Given the description of an element on the screen output the (x, y) to click on. 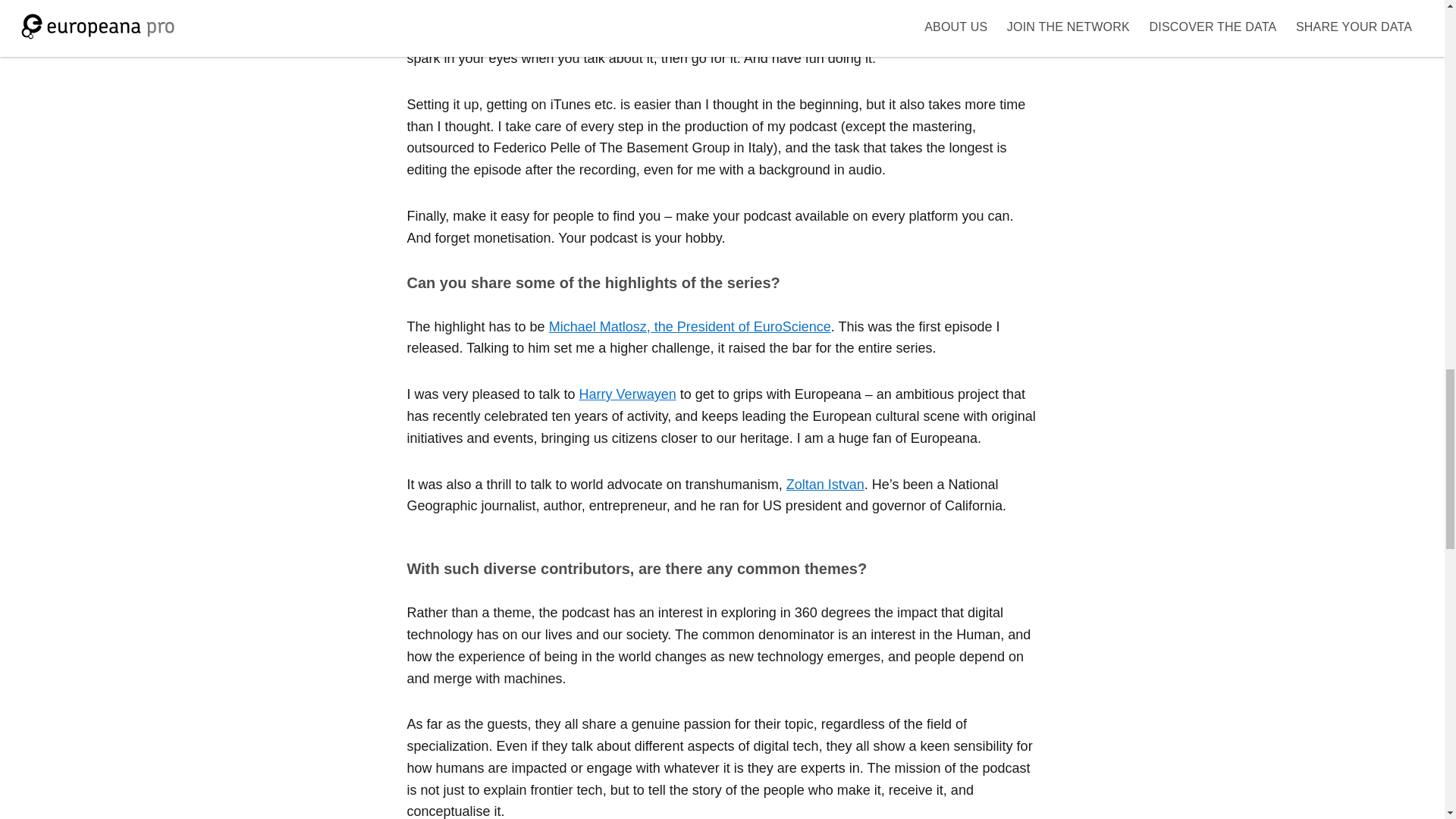
Michael Matlosz, the President of EuroScience (689, 326)
Zoltan Istvan (825, 484)
Harry Verwayen (628, 394)
